Given the description of an element on the screen output the (x, y) to click on. 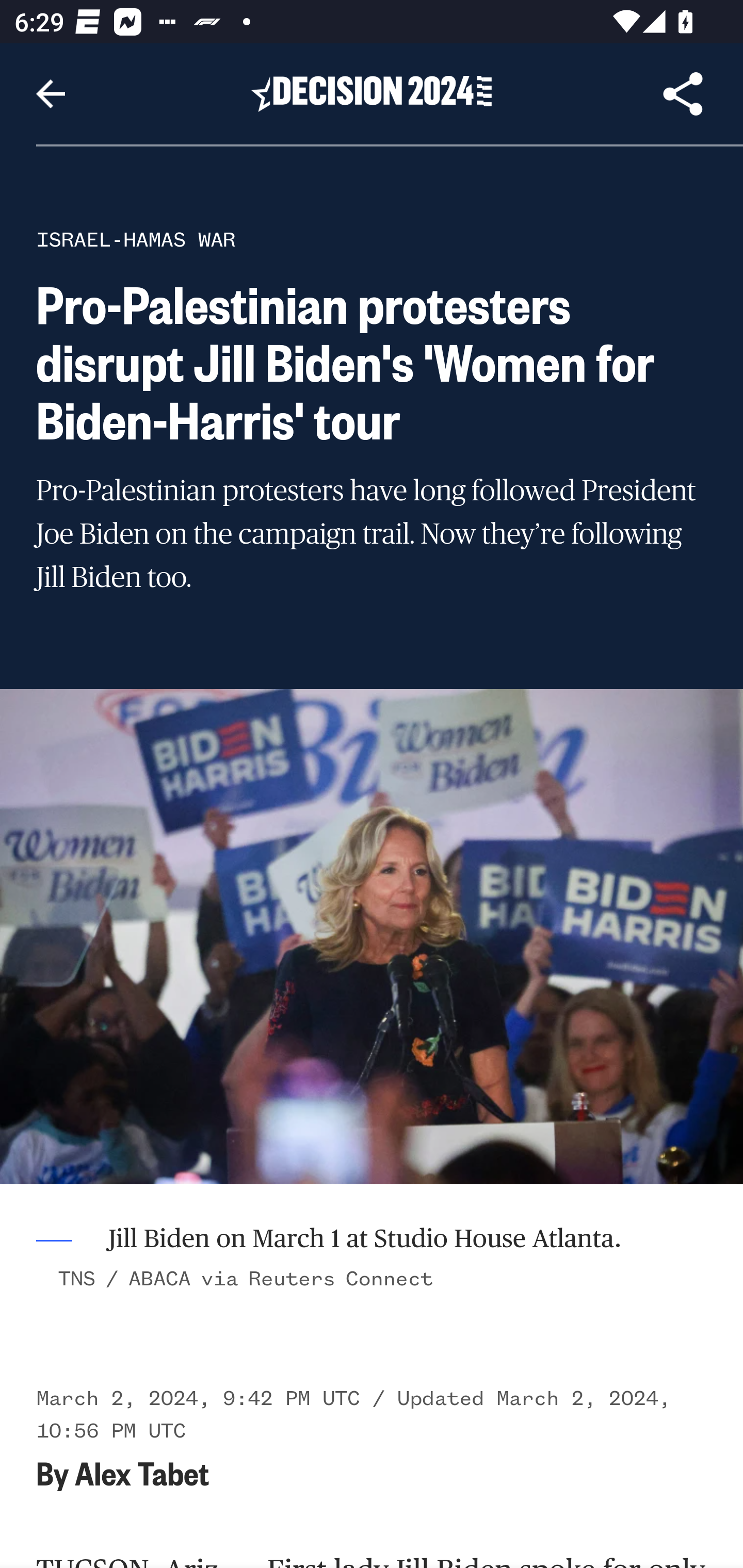
Navigate up (50, 93)
Share Article, button (683, 94)
Header, Decision 2024 (371, 93)
ISRAEL-HAMAS WAR (136, 239)
